Given the description of an element on the screen output the (x, y) to click on. 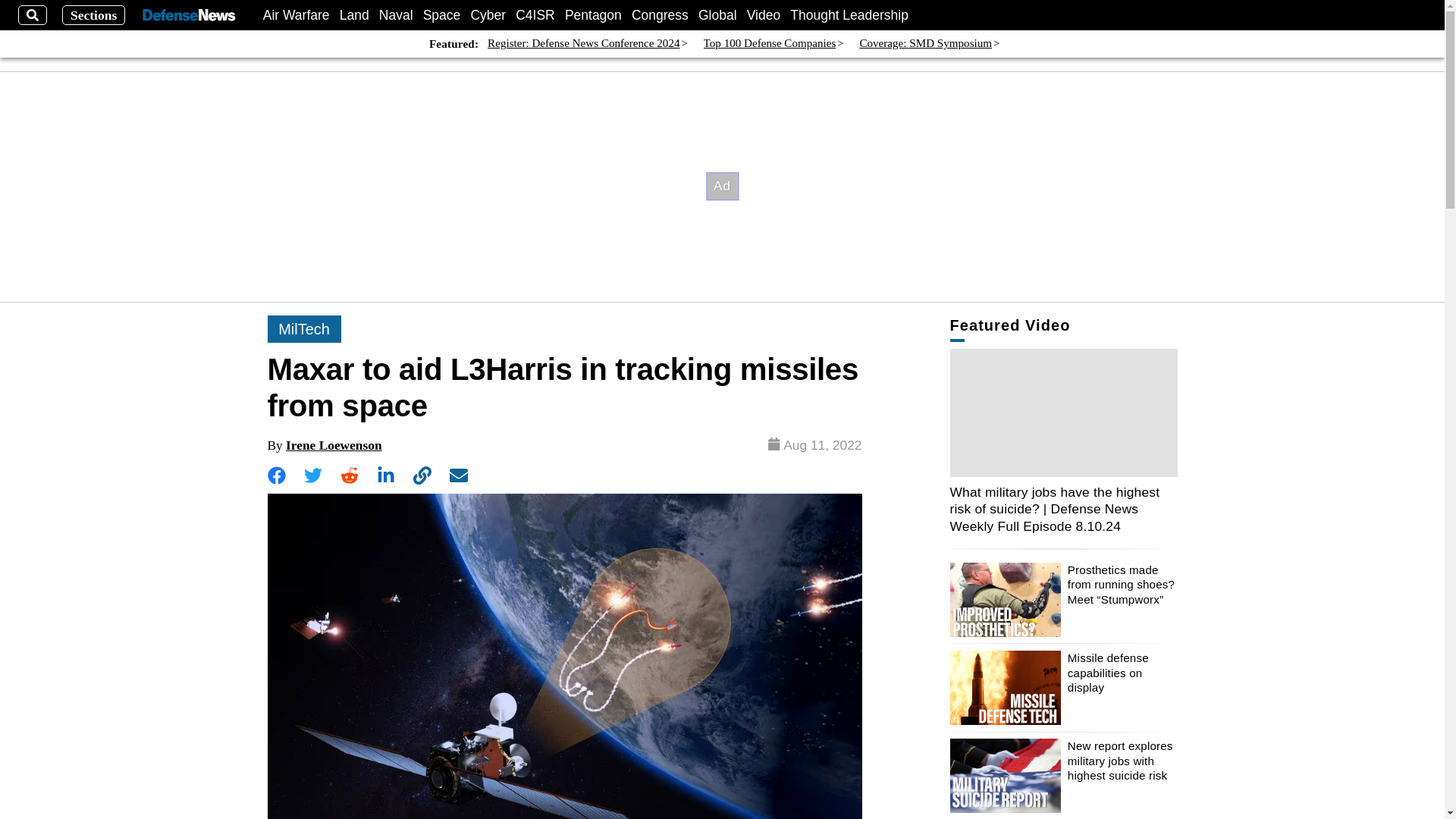
Sections (93, 14)
Global (717, 14)
Space (442, 14)
Defense News Logo (188, 14)
Pentagon (592, 14)
Naval (395, 14)
Air Warfare (296, 14)
3rd party ad content (722, 186)
Thought Leadership (849, 14)
Land (354, 14)
